Given the description of an element on the screen output the (x, y) to click on. 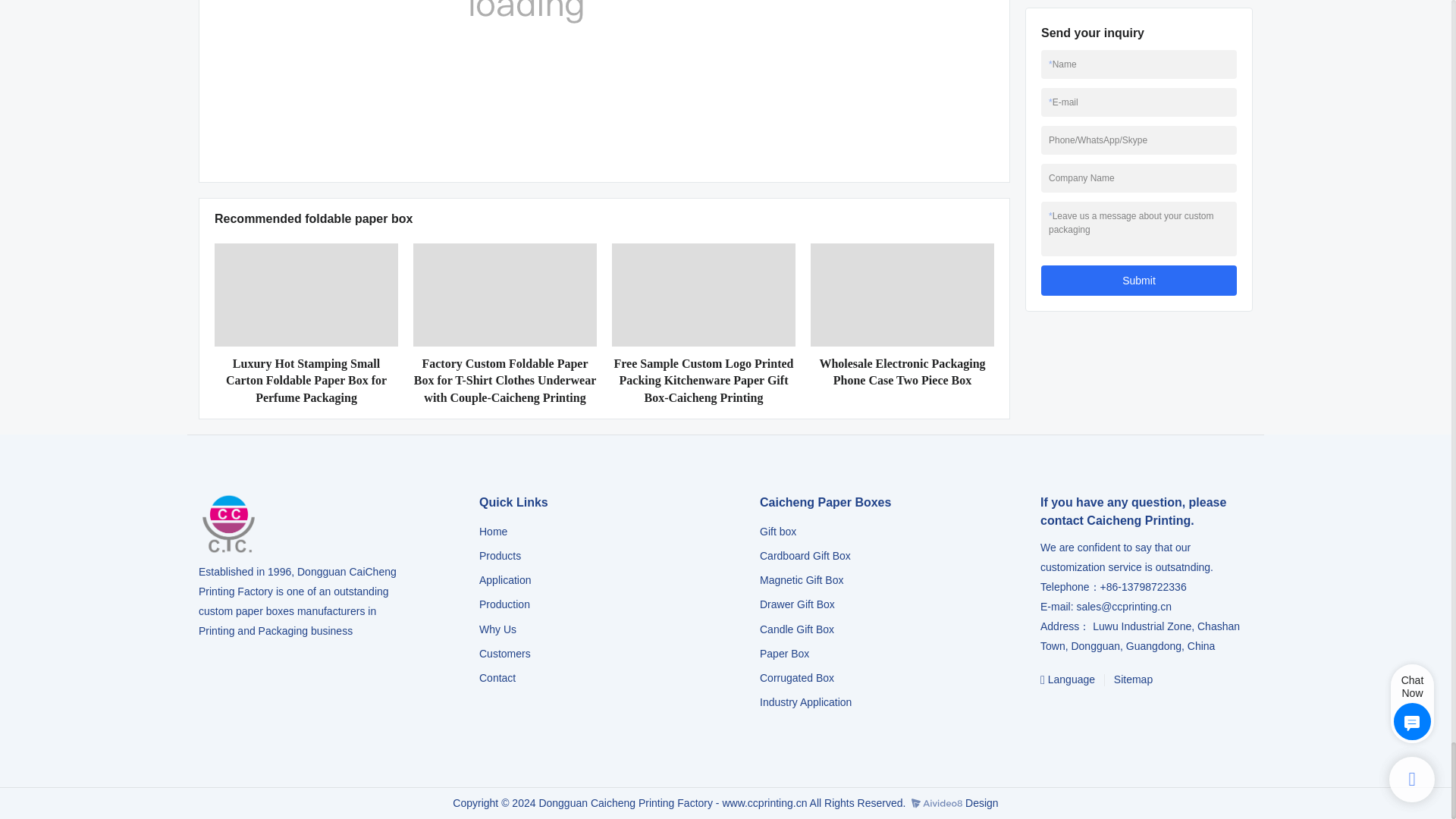
Wholesale Electronic Packaging Phone Case Two Piece Box (902, 372)
